Given the description of an element on the screen output the (x, y) to click on. 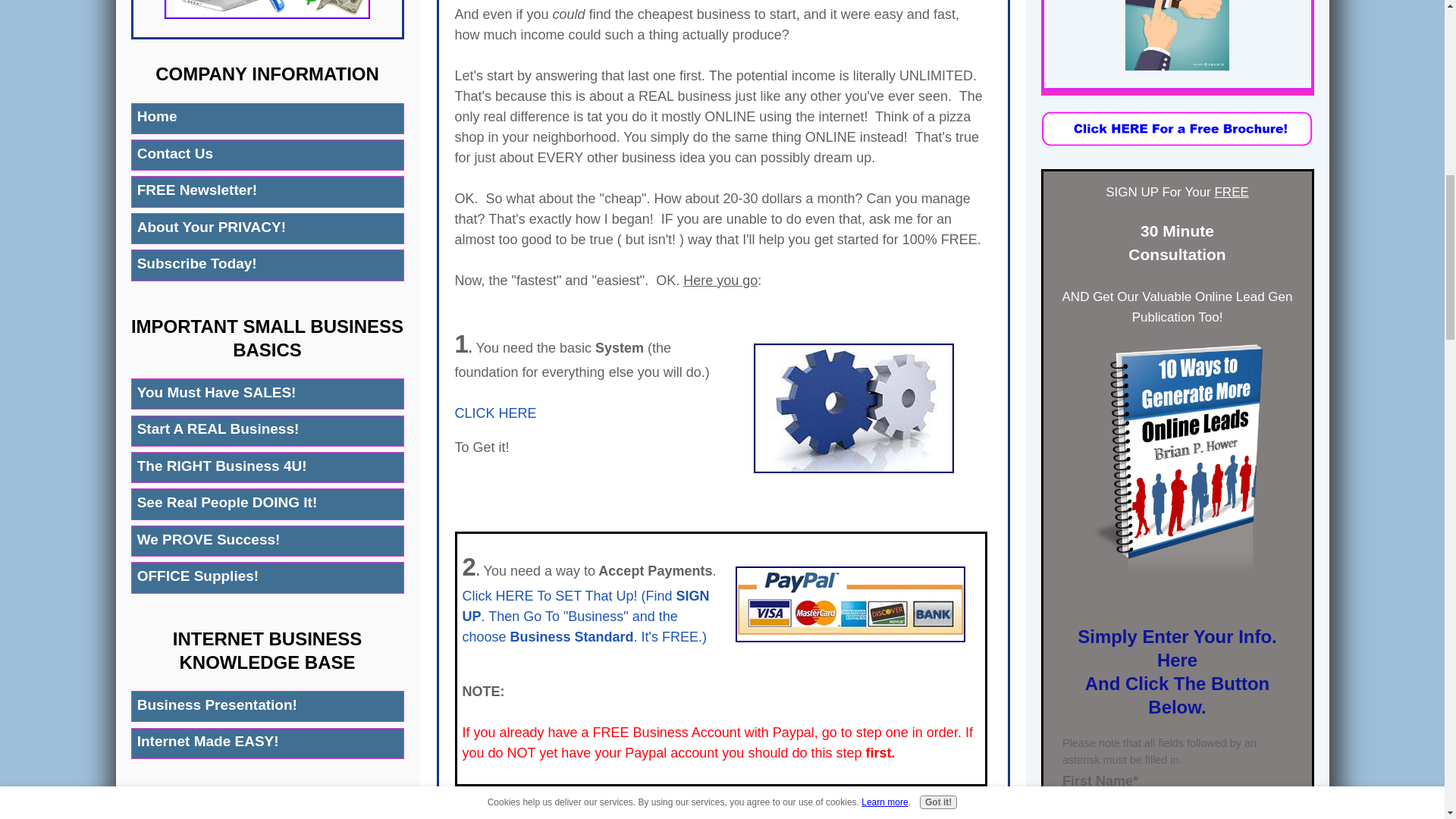
We PROVE Success! (267, 540)
Go to makemoneynow (266, 13)
Start A REAL Business! (267, 430)
Internet Made EASY! (267, 743)
CLICK HERE (495, 412)
The RIGHT Business 4U! (267, 467)
Subscribe Today! (267, 264)
About Your PRIVACY! (267, 228)
Contact Us (267, 154)
Business Presentation! (267, 706)
See Real People DOING It! (267, 503)
OFFICE Supplies! (267, 576)
You Must Have SALES! (267, 393)
Click HERE To SET That Up (548, 595)
Home (267, 118)
